Given the description of an element on the screen output the (x, y) to click on. 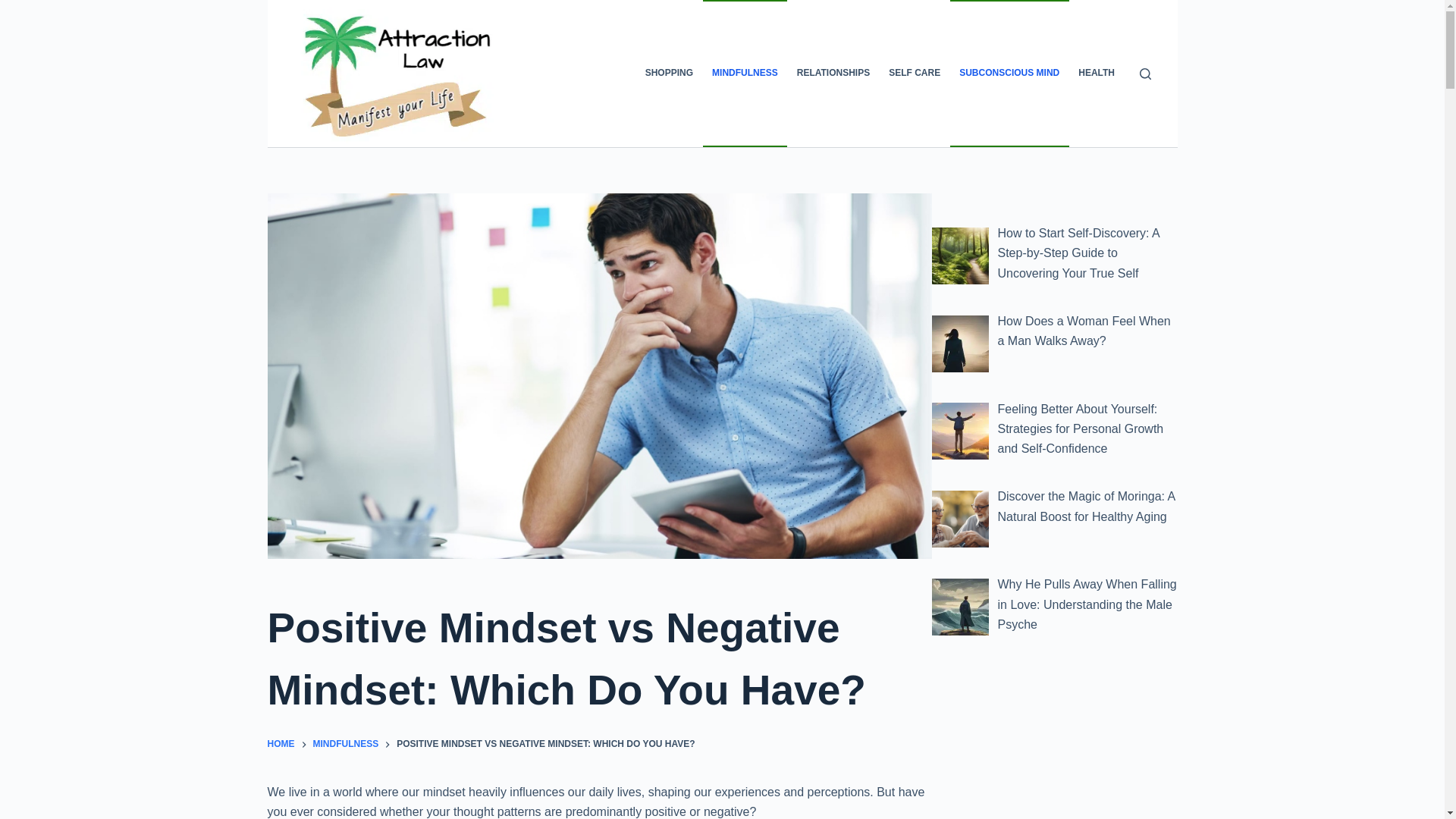
MINDFULNESS (345, 744)
Skip to content (15, 7)
HOME (280, 744)
Positive Mindset vs Negative Mindset: Which Do You Have? (598, 659)
